Given the description of an element on the screen output the (x, y) to click on. 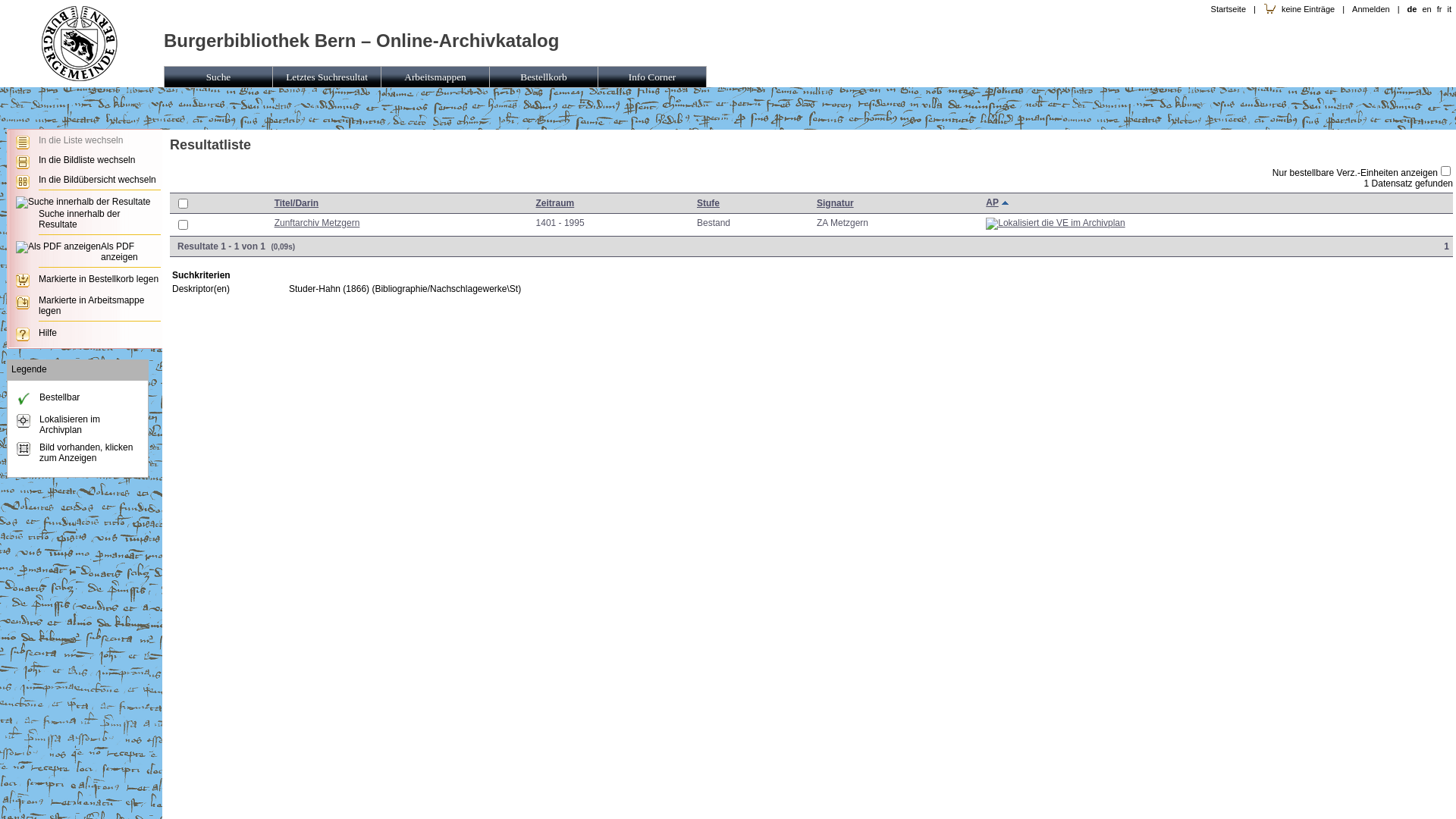
Anmelden Element type: text (1370, 8)
Titel/Darin Element type: text (296, 202)
Als PDF anzeigen Element type: text (119, 251)
Alle markieren Element type: hover (182, 202)
In die Bildliste wechseln Element type: text (86, 159)
Markieren Element type: hover (182, 226)
Info Corner Element type: text (652, 76)
Letztes Suchresultat Element type: text (327, 76)
Signatur Element type: text (834, 202)
Hilfe Element type: text (47, 332)
on Element type: text (1445, 170)
it Element type: text (1448, 8)
Markierte in Bestellkorb legen Element type: text (98, 278)
1 Element type: text (1447, 246)
Suche Element type: text (218, 76)
Lokalisiert die VE im Archivplan Element type: hover (1054, 222)
  Element type: text (1007, 203)
Suche innerhalb der Resultate Element type: text (78, 218)
Arbeitsmappen Element type: text (435, 76)
de Element type: text (1411, 8)
Aufsteigend sortiert Element type: hover (1007, 203)
Stufe Element type: text (707, 202)
Lokalisiert die VE im Archivplan Element type: hover (1054, 223)
en Element type: text (1426, 8)
Zeitraum Element type: text (555, 202)
Startseite Element type: hover (79, 40)
Zunftarchiv Metzgern Element type: text (317, 222)
AP Element type: text (991, 202)
Bestellkorb Element type: text (543, 76)
fr Element type: text (1439, 8)
Startseite Element type: text (1228, 8)
on Element type: text (183, 203)
Startseite Element type: hover (79, 77)
Markierte in Arbeitsmappe legen Element type: text (91, 305)
